Given the description of an element on the screen output the (x, y) to click on. 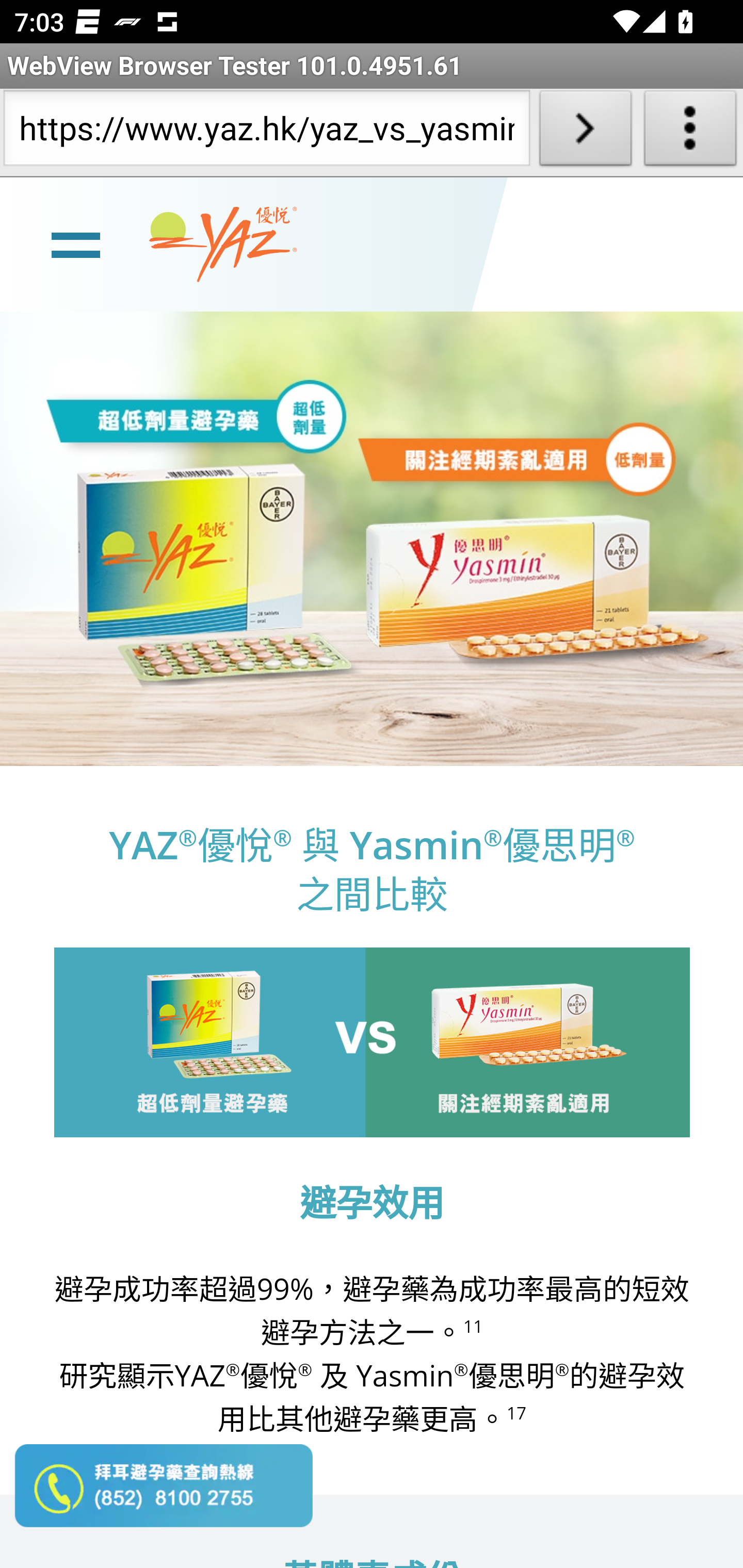
Load URL (585, 132)
About WebView (690, 132)
www.yaz (222, 244)
line Toggle burger menu (75, 242)
